Given the description of an element on the screen output the (x, y) to click on. 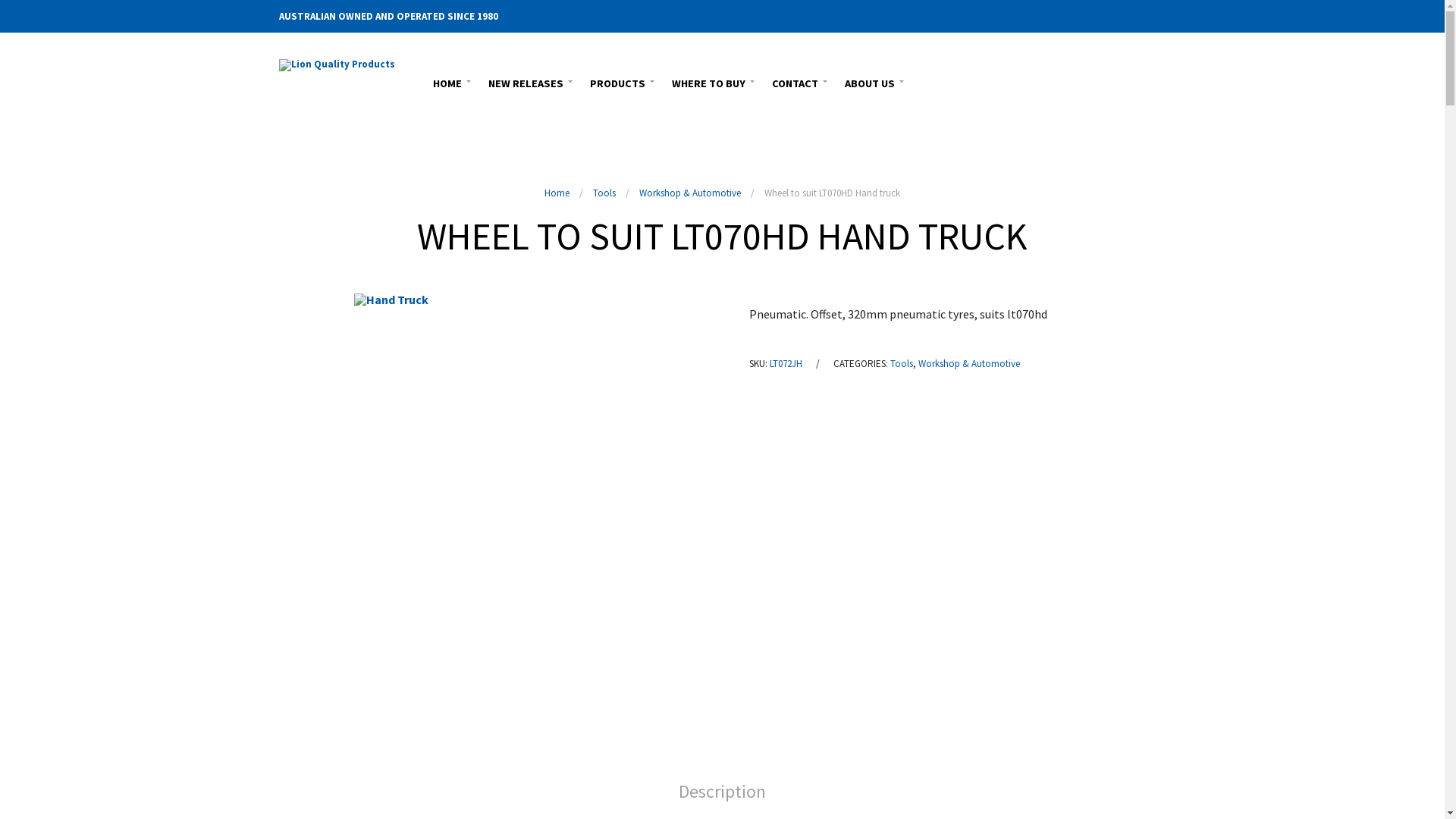
CONTACT Element type: text (795, 81)
HOME Element type: text (448, 81)
Description Element type: text (721, 791)
WHERE TO BUY Element type: text (709, 81)
Lion (Aust) Consolidated P/L Element type: hover (337, 83)
Workshop & Automotive Element type: text (689, 192)
NEW RELEASES Element type: text (526, 81)
ABOUT US Element type: text (870, 81)
Search the Website Element type: hover (1155, 83)
PRODUCTS Element type: text (618, 81)
Home Element type: text (556, 192)
Tools Element type: text (604, 192)
Workshop & Automotive Element type: text (968, 363)
Tools Element type: text (901, 363)
